Given the description of an element on the screen output the (x, y) to click on. 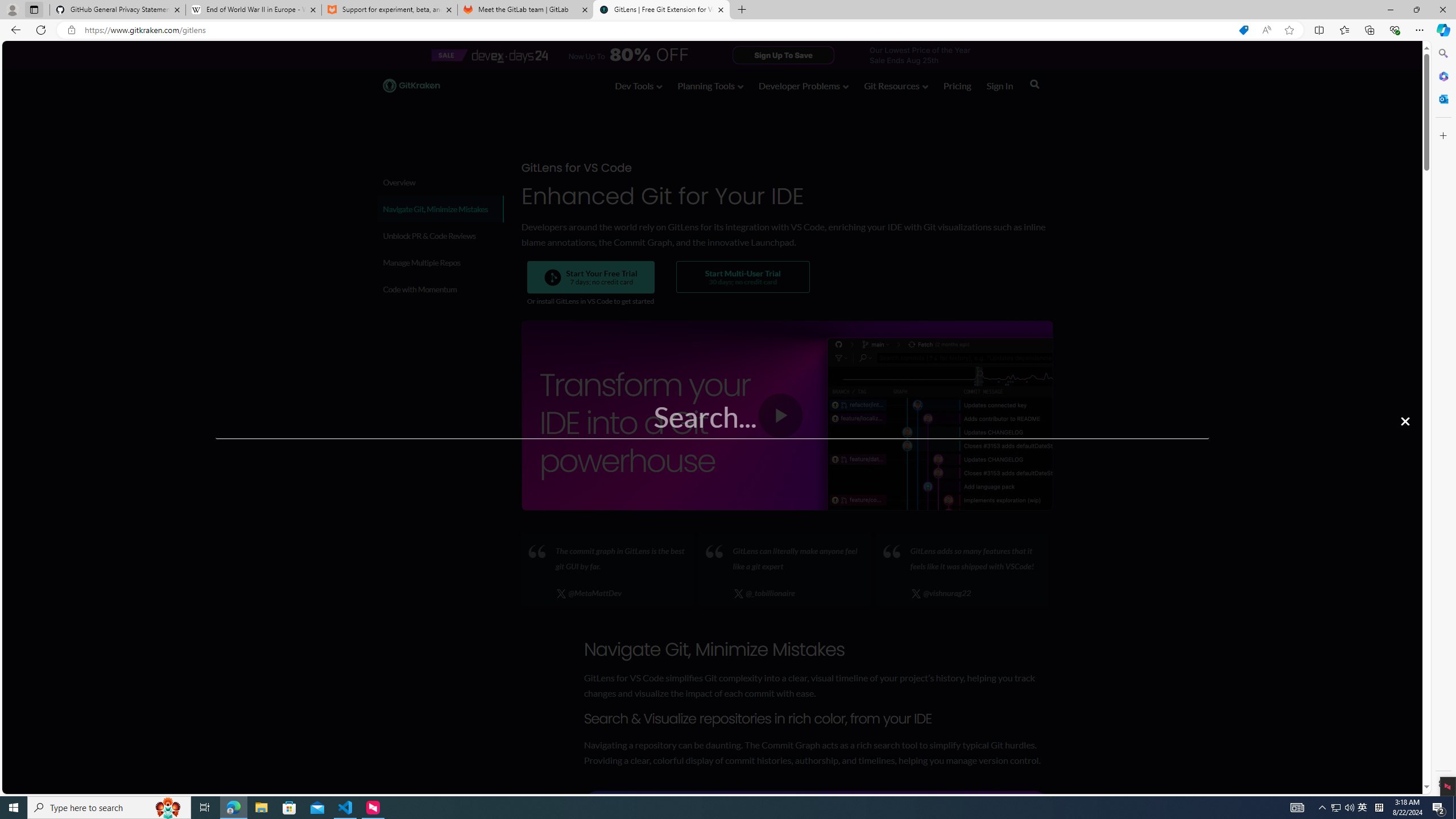
Manage Multiple Repos (440, 262)
Overview (439, 182)
Pricing (957, 87)
Code with Momentum (439, 288)
Or install GitLens in VS Code to get started (590, 300)
GitLens | Free Git Extension for Visual Studio Code (660, 9)
